Given the description of an element on the screen output the (x, y) to click on. 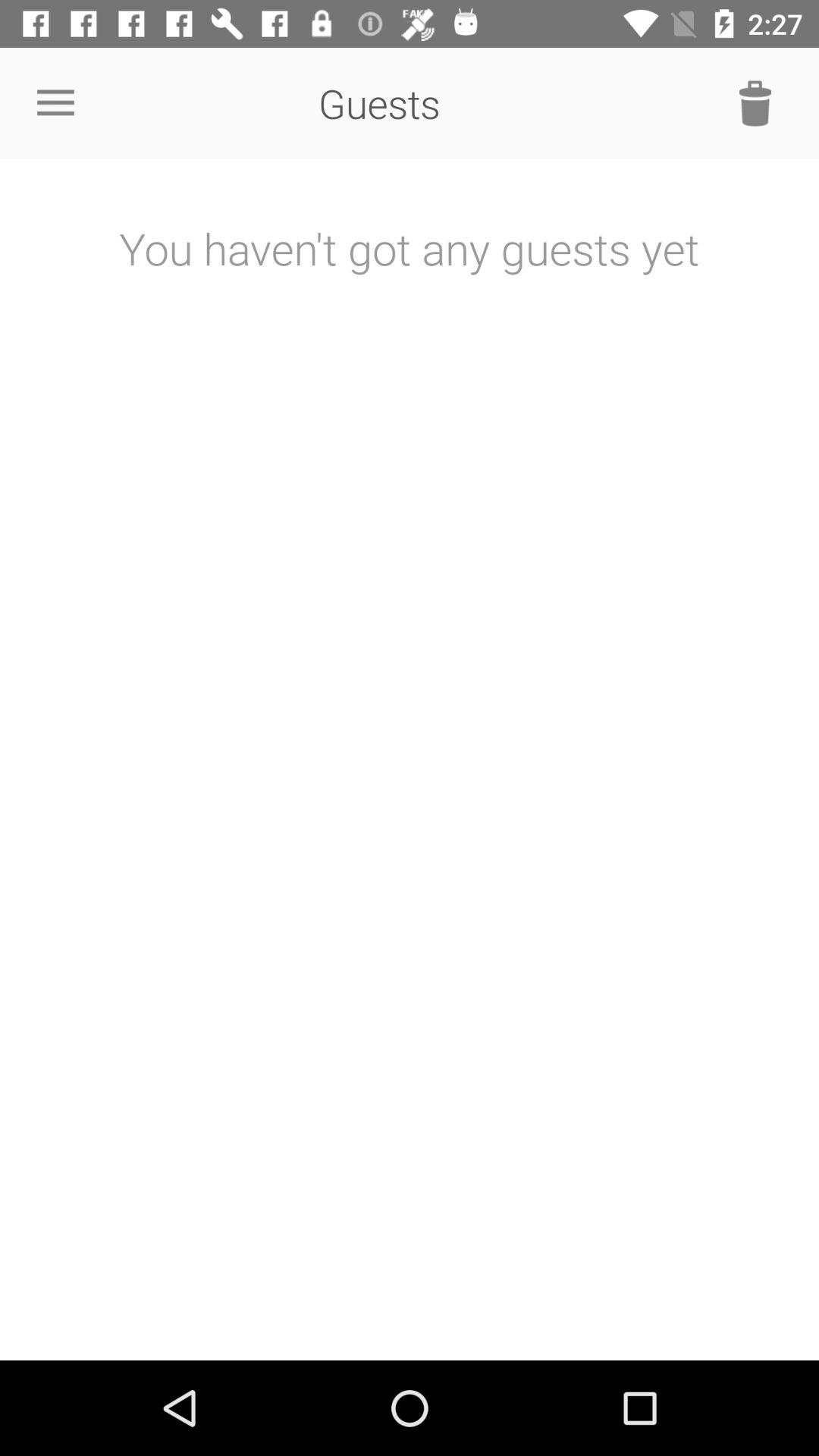
press icon above you haven t icon (755, 103)
